Given the description of an element on the screen output the (x, y) to click on. 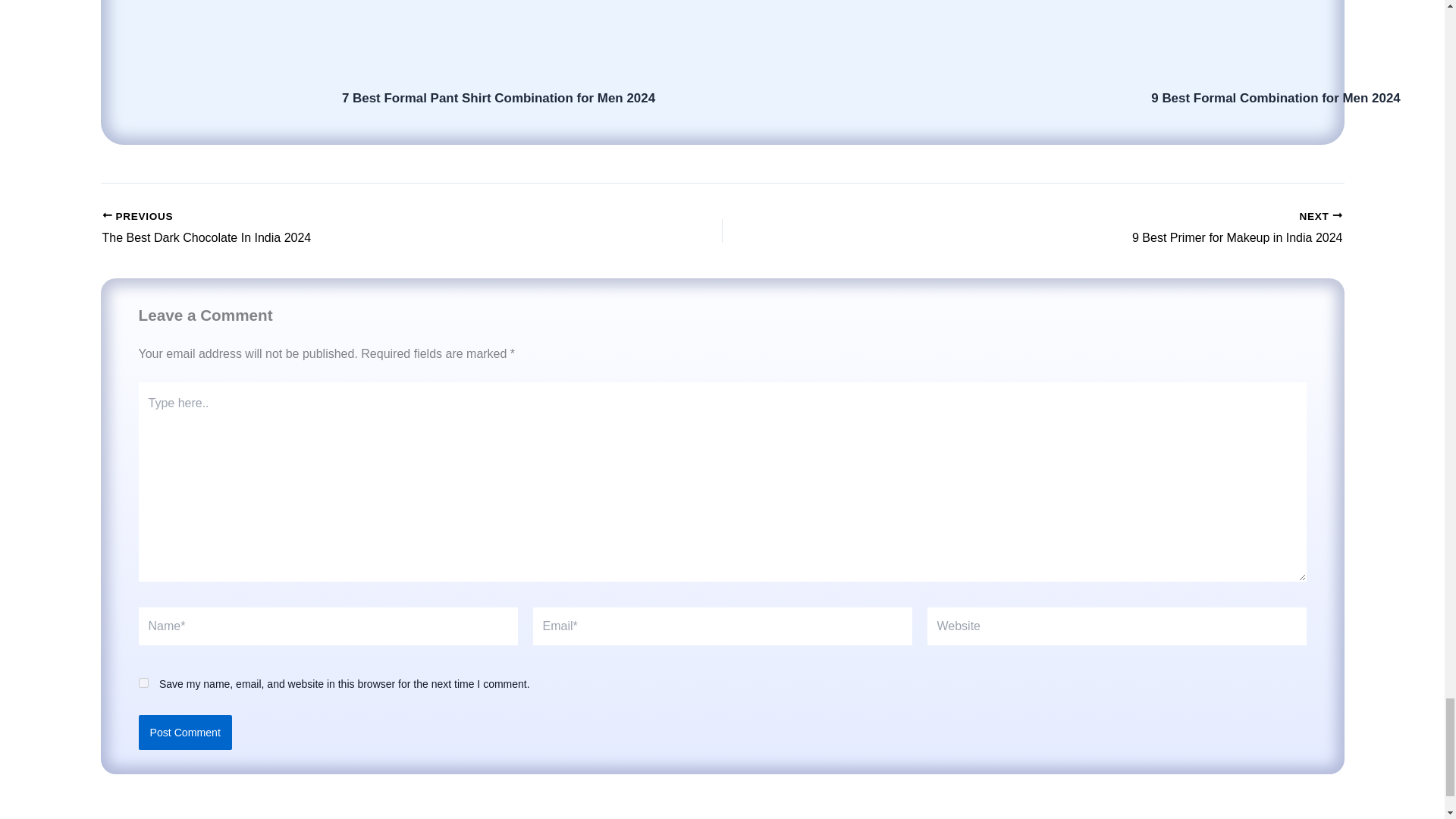
The Best Dark Chocolate In India 2024 (349, 228)
yes (143, 682)
9 Best Primer for Makeup in India 2024 (1093, 228)
Post Comment (184, 732)
